Given the description of an element on the screen output the (x, y) to click on. 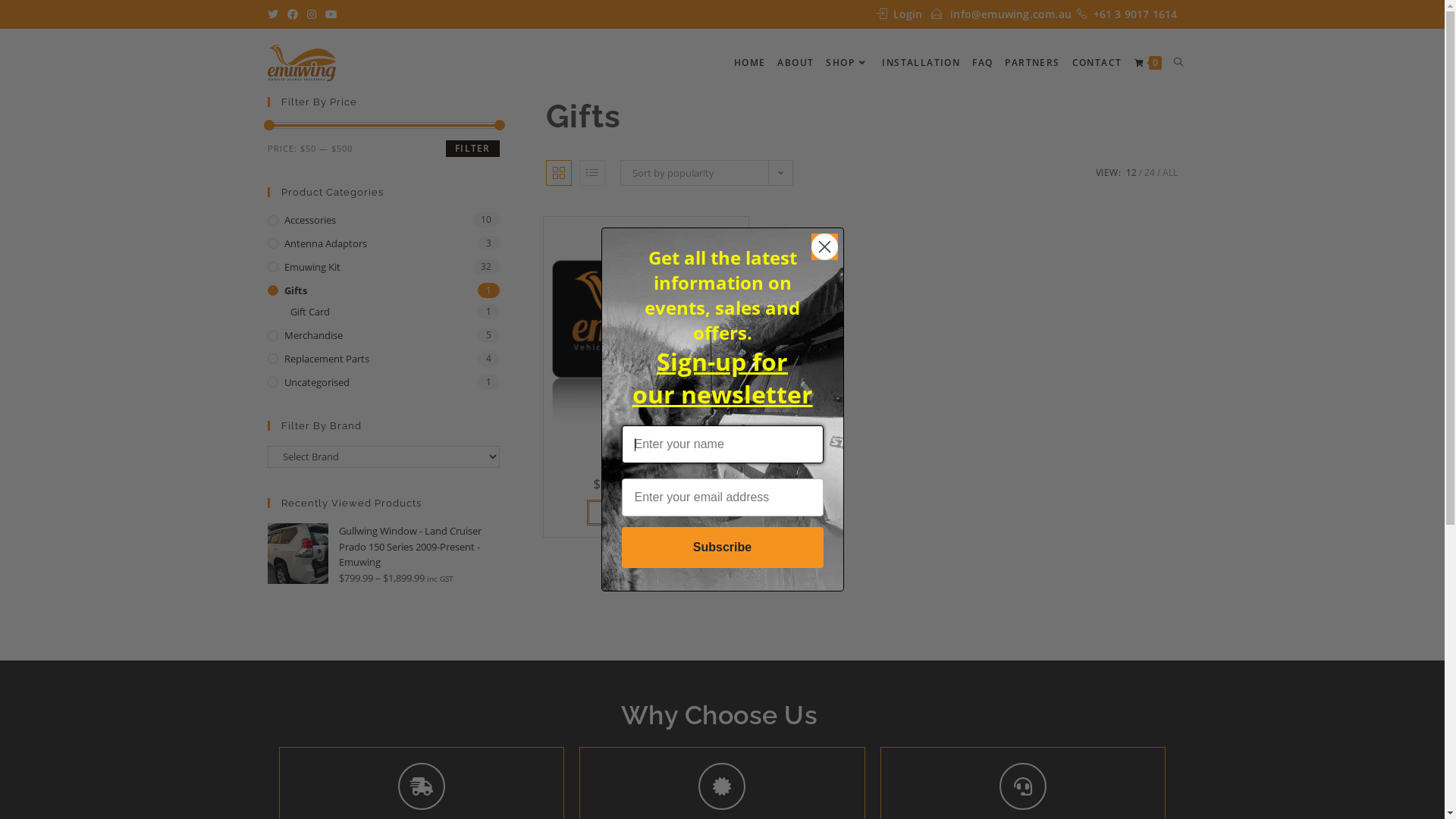
12 Element type: text (1130, 172)
List view Element type: hover (592, 172)
INSTALLATION Element type: text (920, 62)
Login Element type: text (907, 13)
HOME Element type: text (749, 62)
Subscribe Element type: text (722, 547)
Antenna Adaptors Element type: text (382, 243)
Submit Element type: text (35, 15)
FILTER Element type: text (471, 148)
Emuwing Kit Element type: text (382, 267)
24 Element type: text (1148, 172)
FAQ Element type: text (982, 62)
+61 3 9017 1614 Element type: text (1135, 13)
info@emuwing.com.au Element type: text (1010, 13)
SHOP Element type: text (847, 62)
Gifts Element type: text (382, 290)
Gift Card Element type: text (393, 312)
CONTACT Element type: text (1097, 62)
Merchandise Element type: text (382, 335)
Accessories Element type: text (382, 220)
ALL Element type: text (1168, 172)
Gift Card Element type: text (646, 444)
Select amount Element type: text (645, 512)
Replacement Parts Element type: text (382, 359)
Uncategorised Element type: text (382, 382)
PARTNERS Element type: text (1031, 62)
ABOUT Element type: text (795, 62)
Grid view Element type: hover (558, 172)
0 Element type: text (1147, 62)
